Given the description of an element on the screen output the (x, y) to click on. 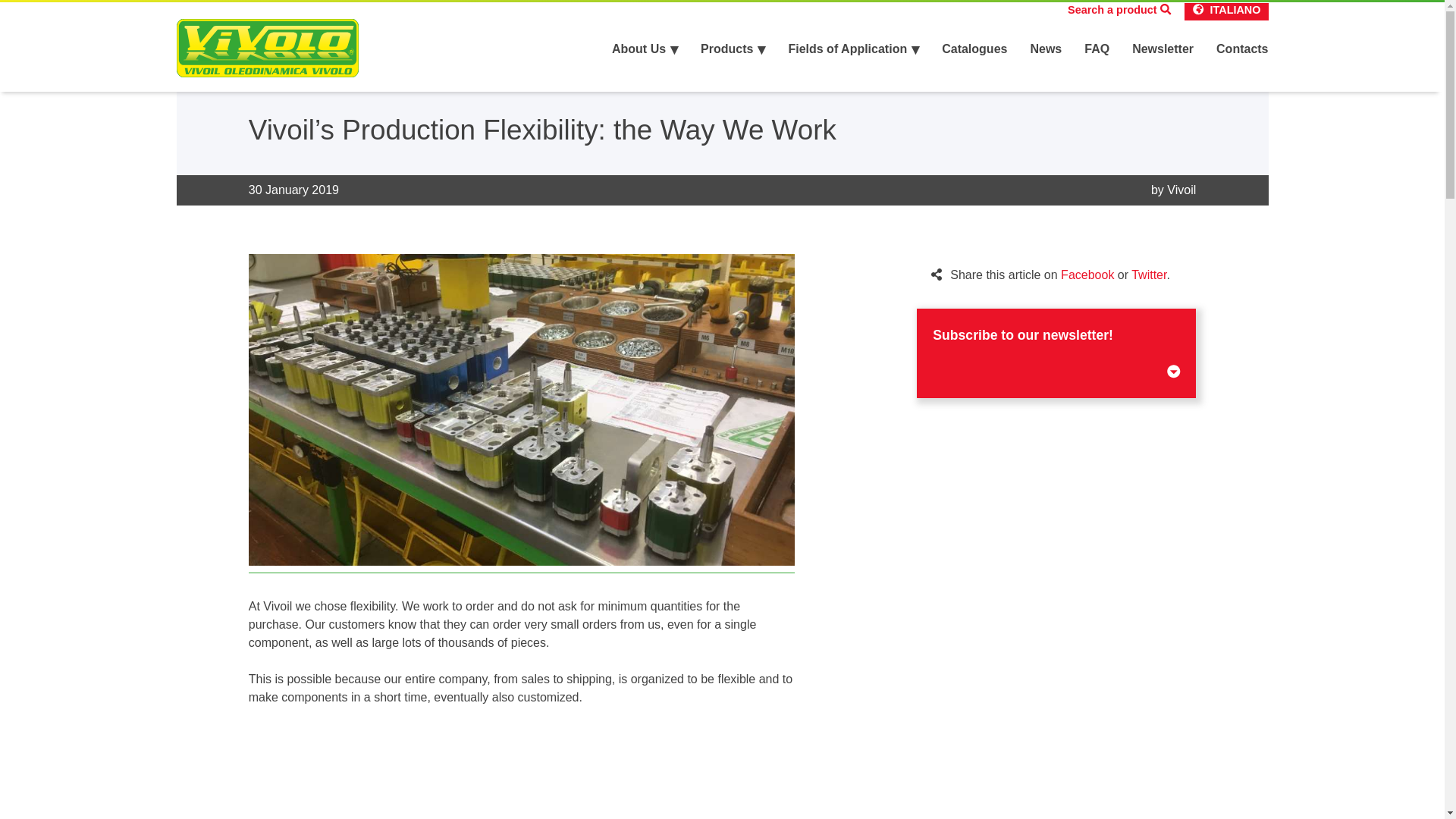
Twitter (1148, 274)
Facebook (1087, 274)
Italiano (1234, 10)
Subscribe to our newsletter! (1056, 353)
About Us (643, 49)
FAQ (1097, 49)
ITALIANO (1234, 10)
Contacts (1242, 49)
Newsletter (1163, 49)
News (1045, 49)
Fields of Application (853, 49)
Products (732, 49)
Catalogues (973, 49)
